Given the description of an element on the screen output the (x, y) to click on. 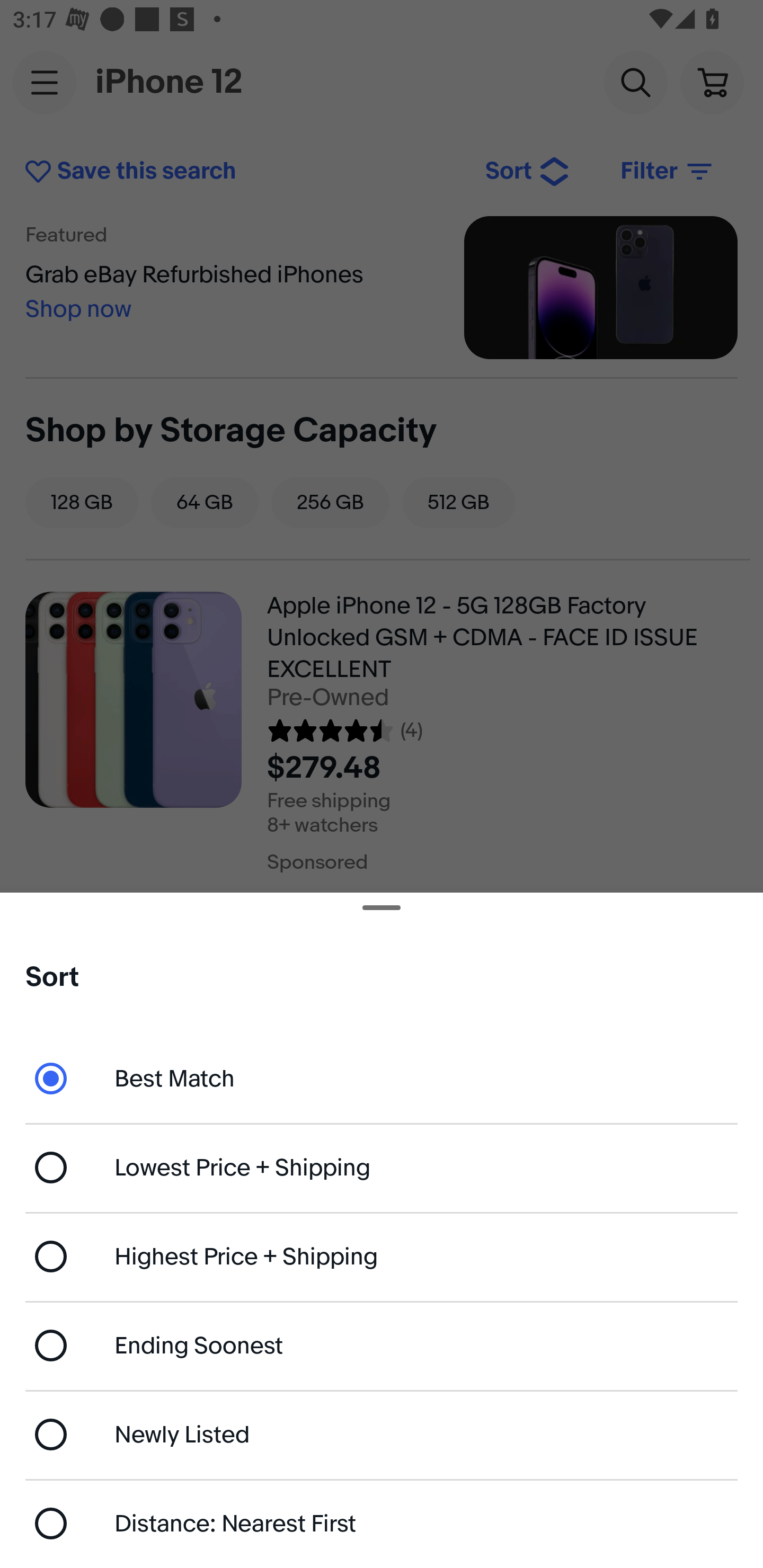
Best Match - currently selected Best Match (381, 1077)
Lowest Price + Shipping (381, 1167)
Highest Price + Shipping (381, 1256)
Ending Soonest (381, 1345)
Newly Listed (381, 1433)
Distance: Nearest First (381, 1523)
